Given the description of an element on the screen output the (x, y) to click on. 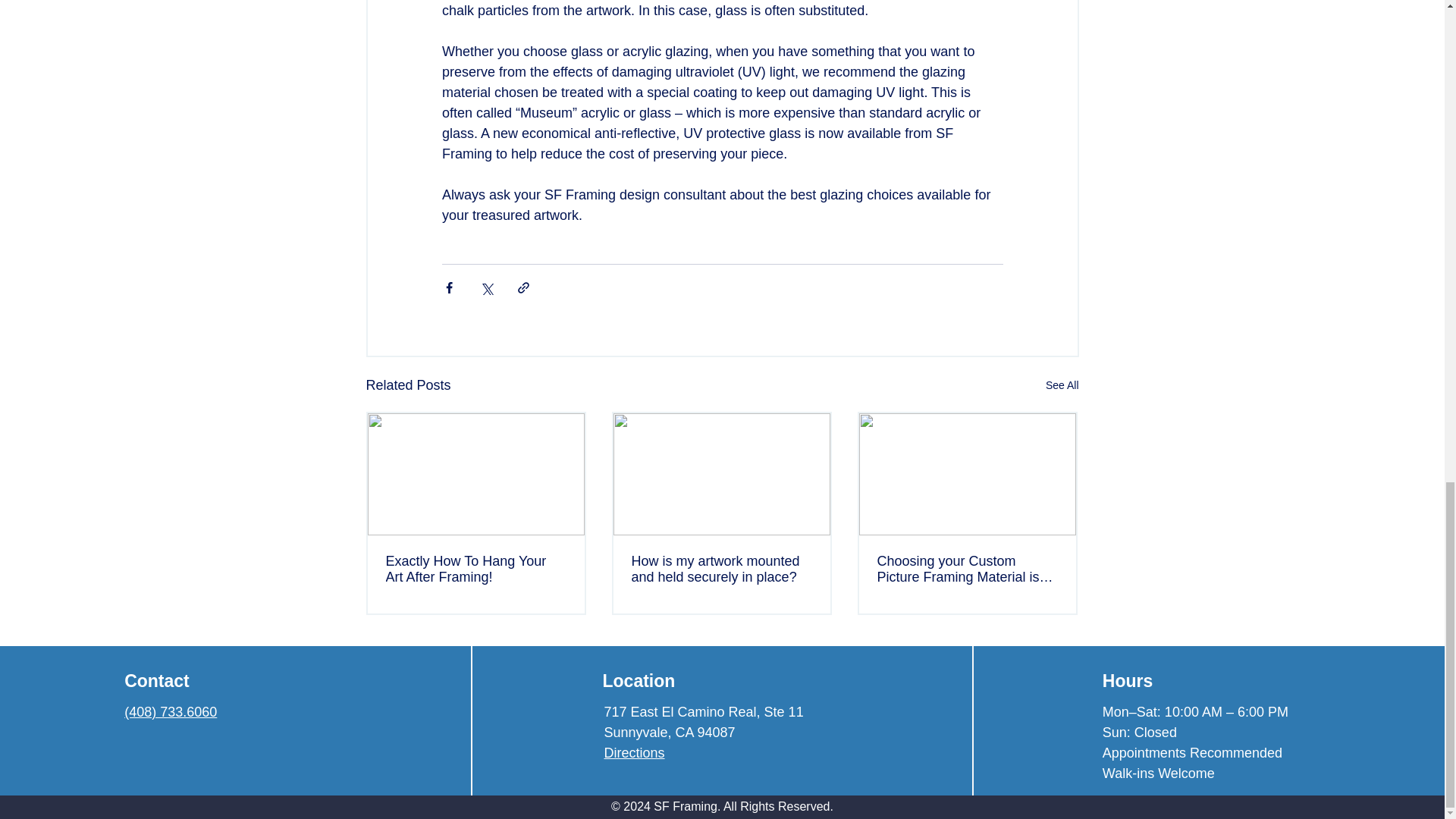
How is my artwork mounted and held securely in place? (720, 569)
Directions (633, 752)
Choosing your Custom Picture Framing Material is Important! (966, 569)
See All (1061, 385)
Exactly How To Hang Your Art After Framing! (475, 569)
